Given the description of an element on the screen output the (x, y) to click on. 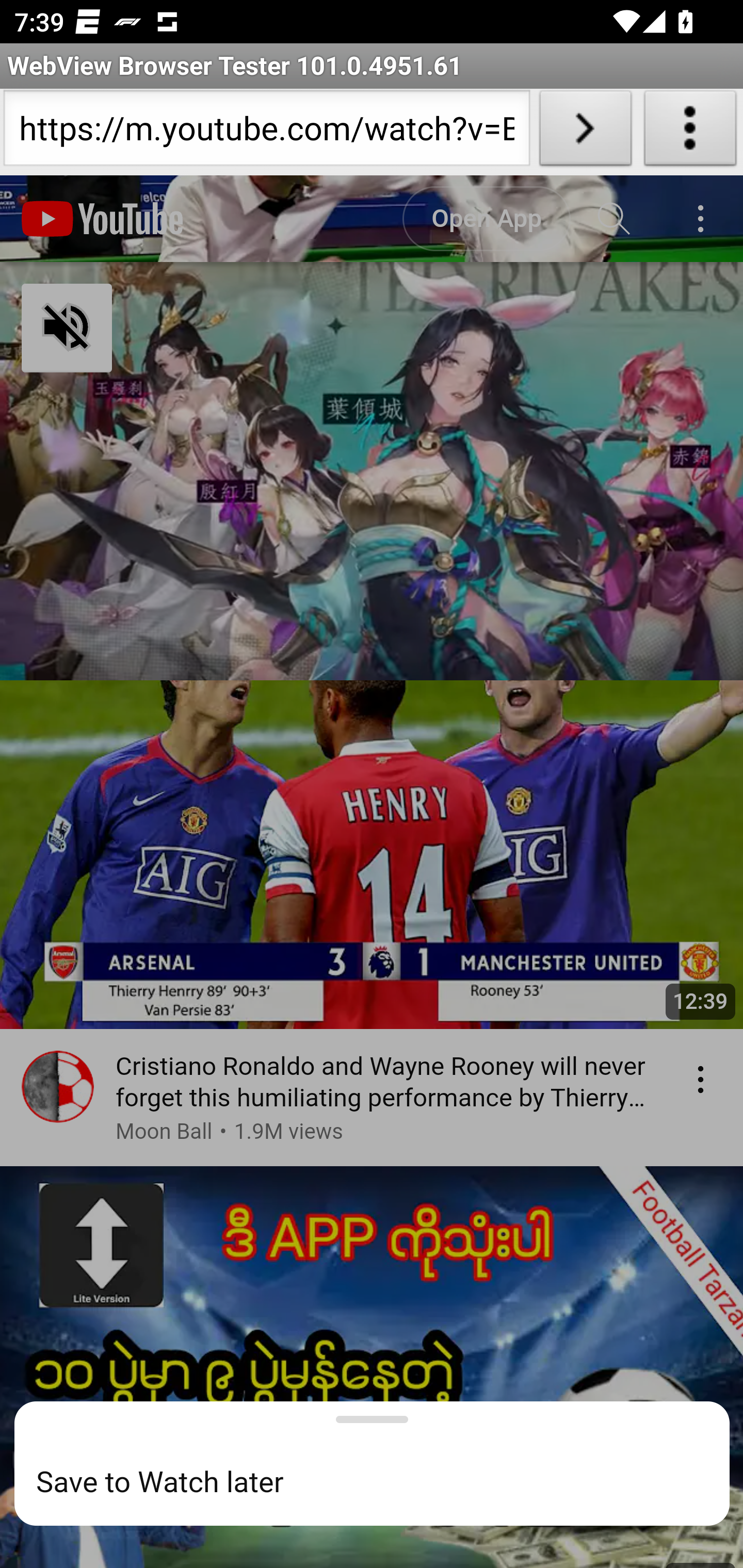
Load URL (585, 132)
About WebView (690, 132)
Save to Watch later (383, 1482)
